Given the description of an element on the screen output the (x, y) to click on. 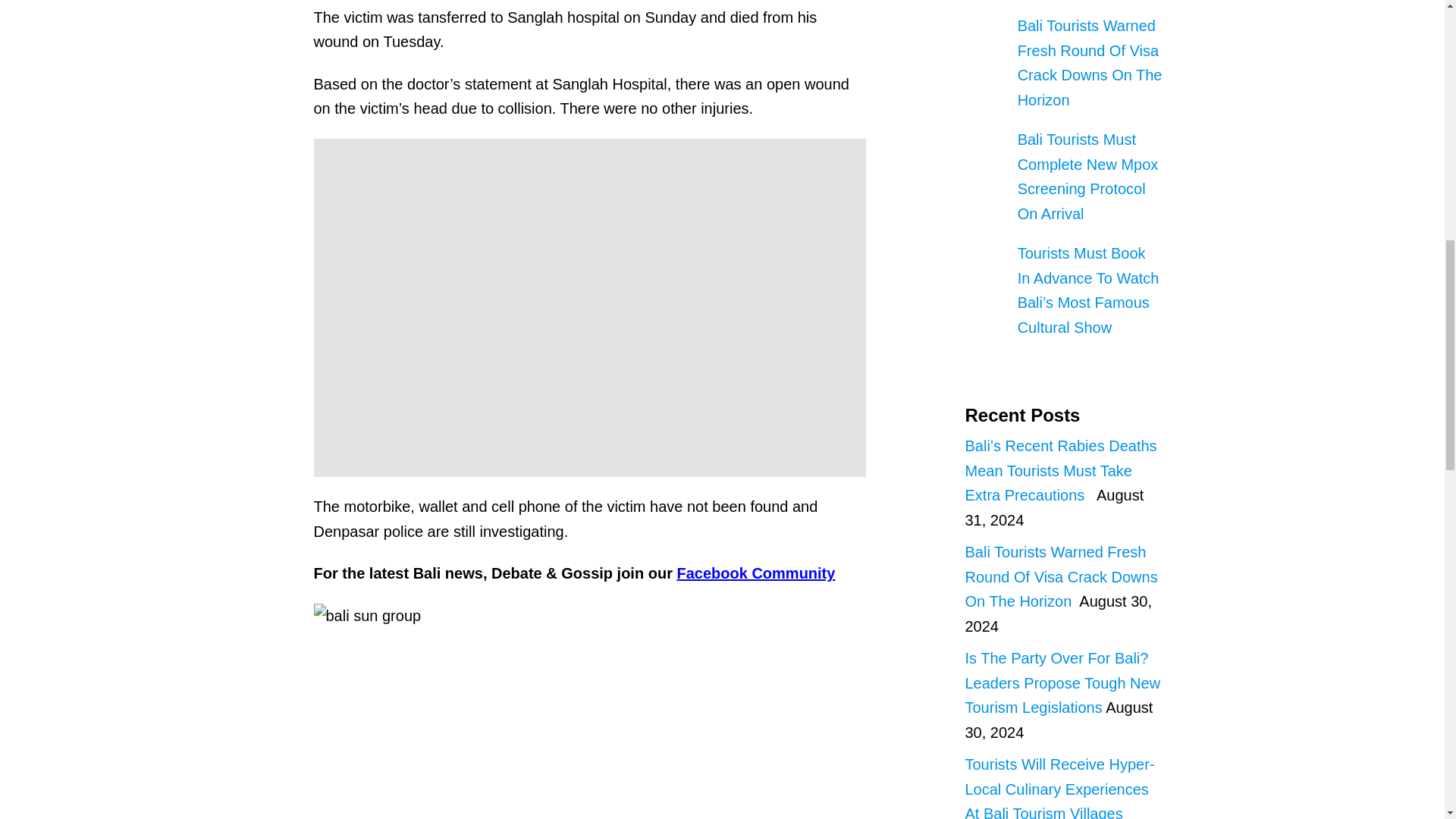
Facebook Community (755, 573)
